Given the description of an element on the screen output the (x, y) to click on. 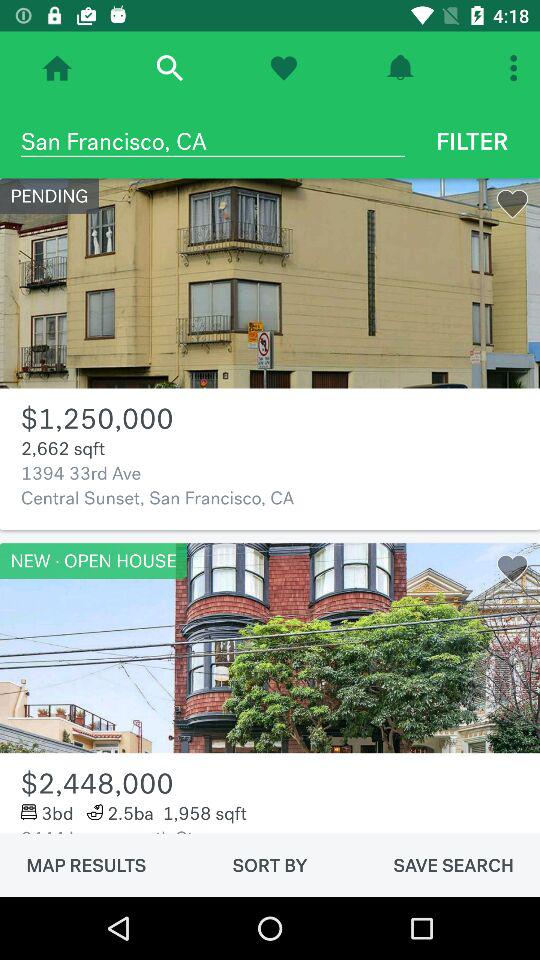
open notification (400, 68)
